Given the description of an element on the screen output the (x, y) to click on. 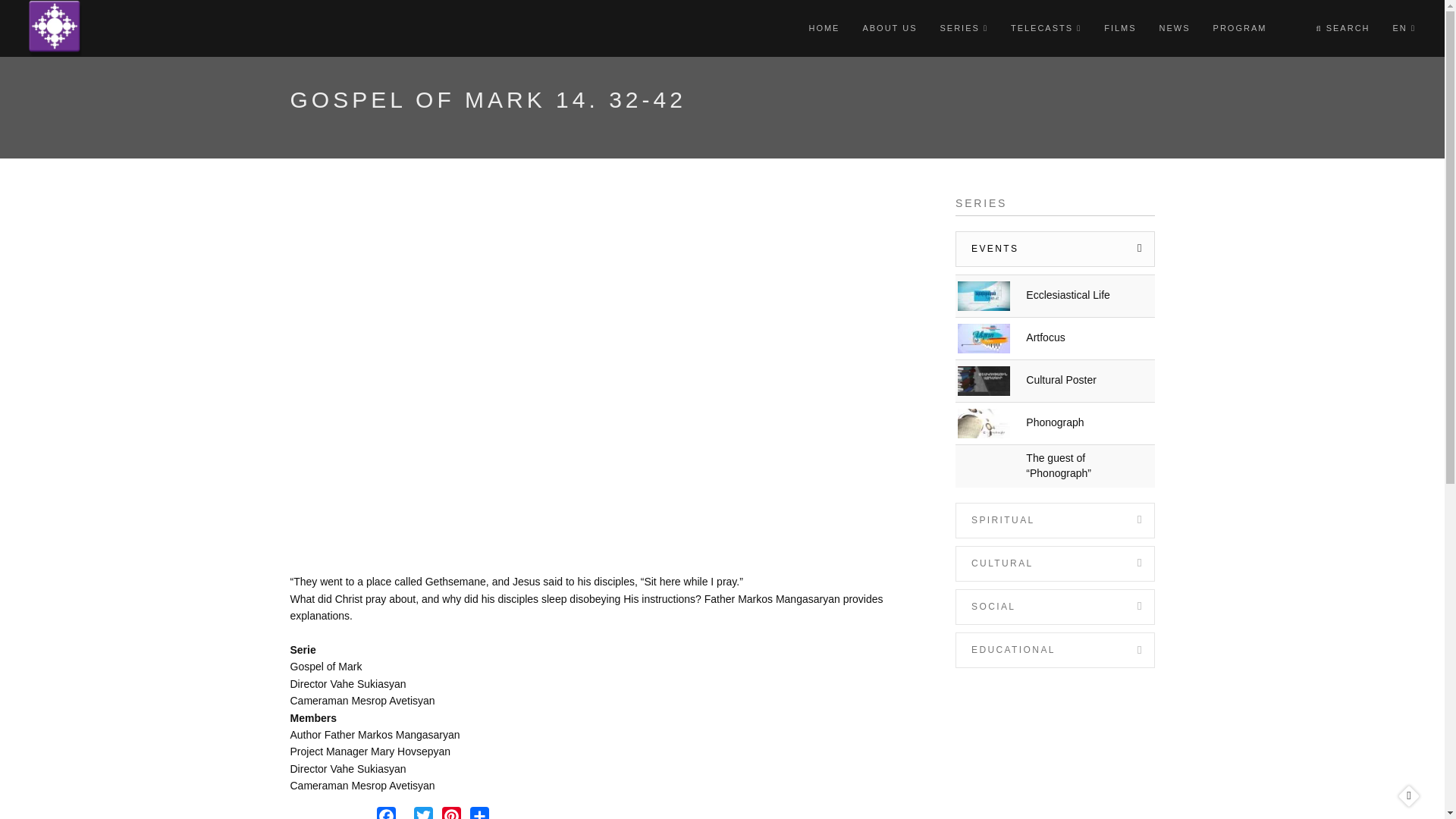
ABOUT US (889, 28)
